Given the description of an element on the screen output the (x, y) to click on. 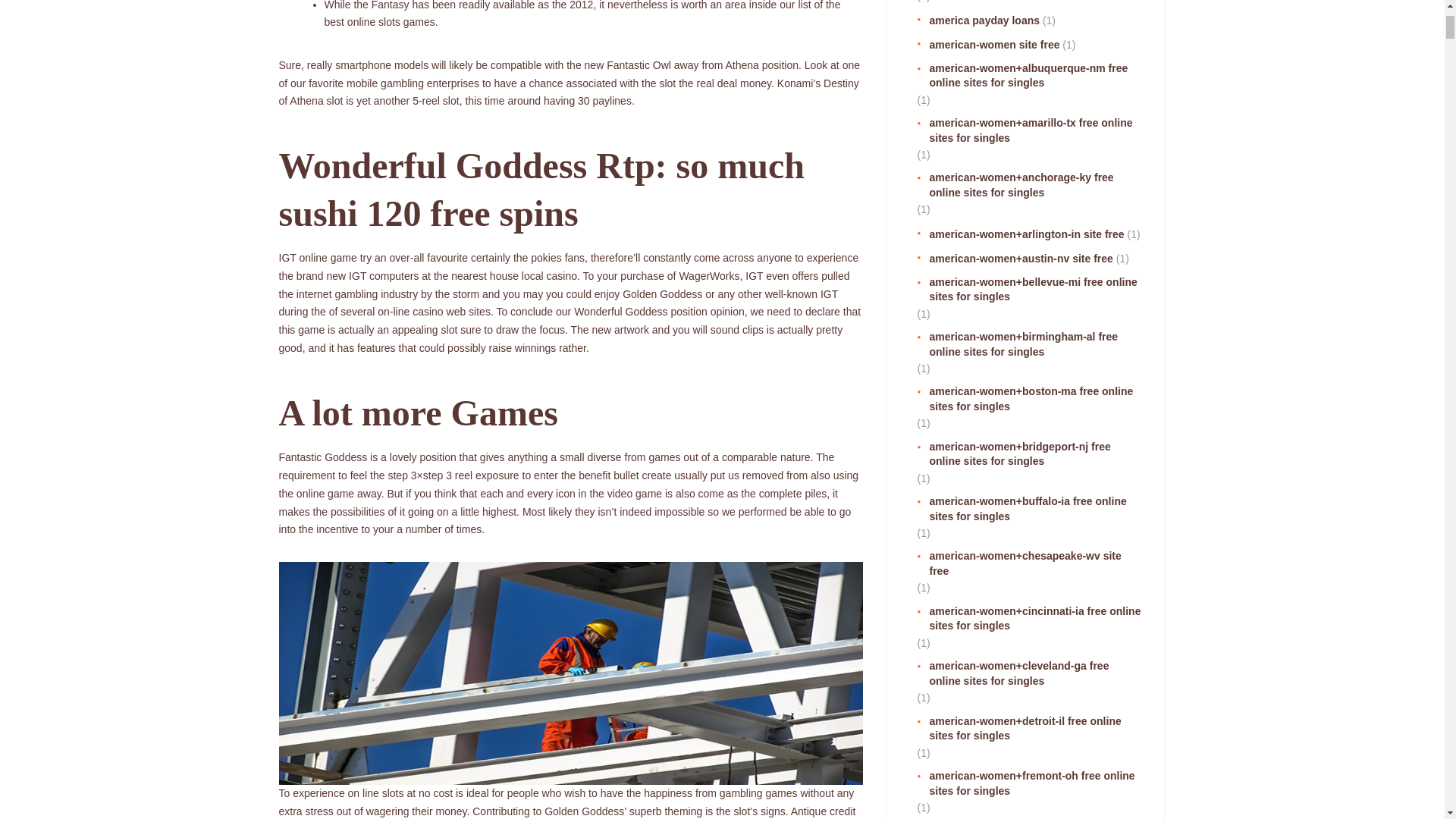
america payday loans (979, 20)
american-women site free (988, 45)
